Given the description of an element on the screen output the (x, y) to click on. 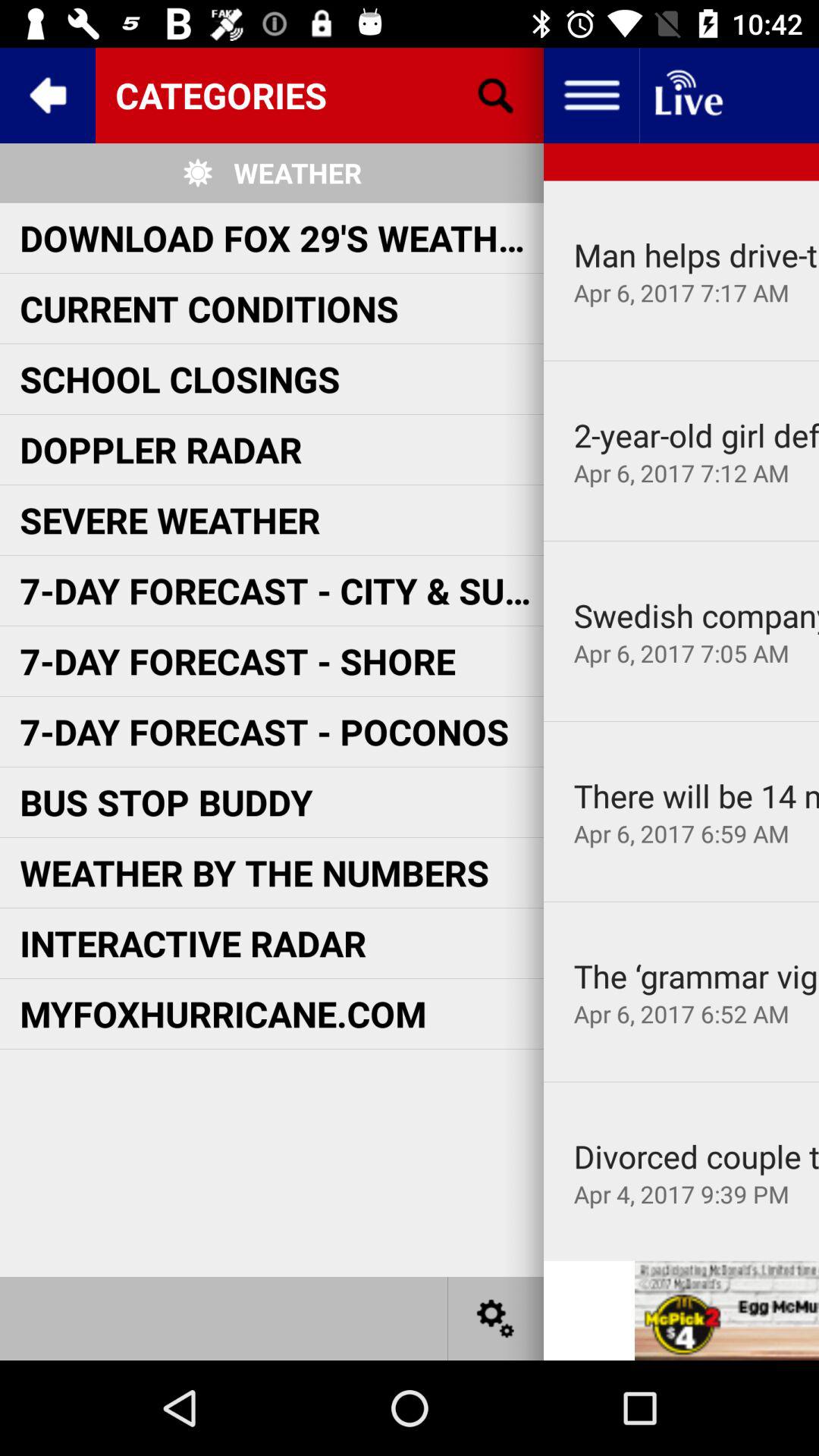
more options (591, 95)
